Given the description of an element on the screen output the (x, y) to click on. 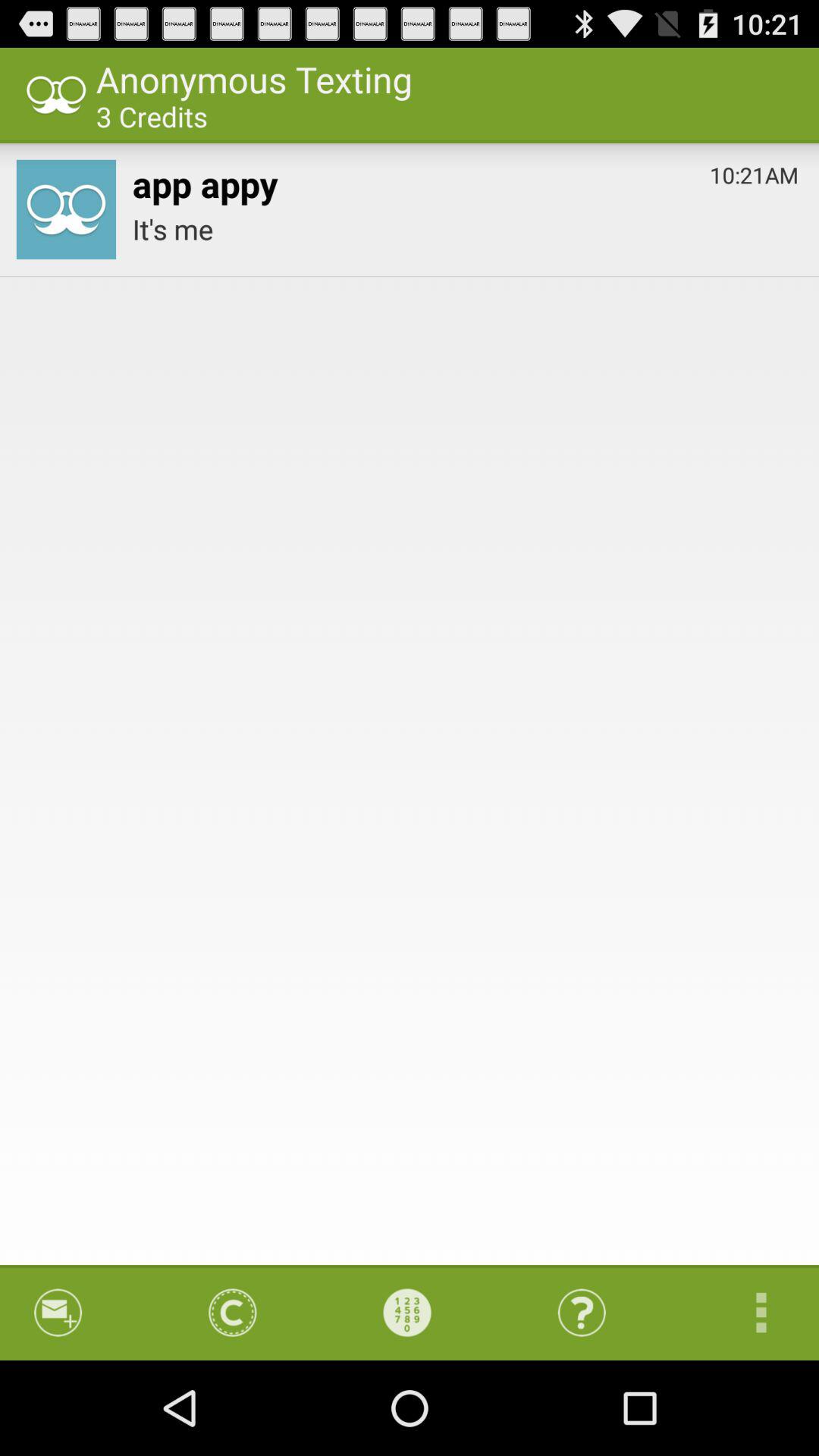
choose 10:21am item (753, 171)
